Given the description of an element on the screen output the (x, y) to click on. 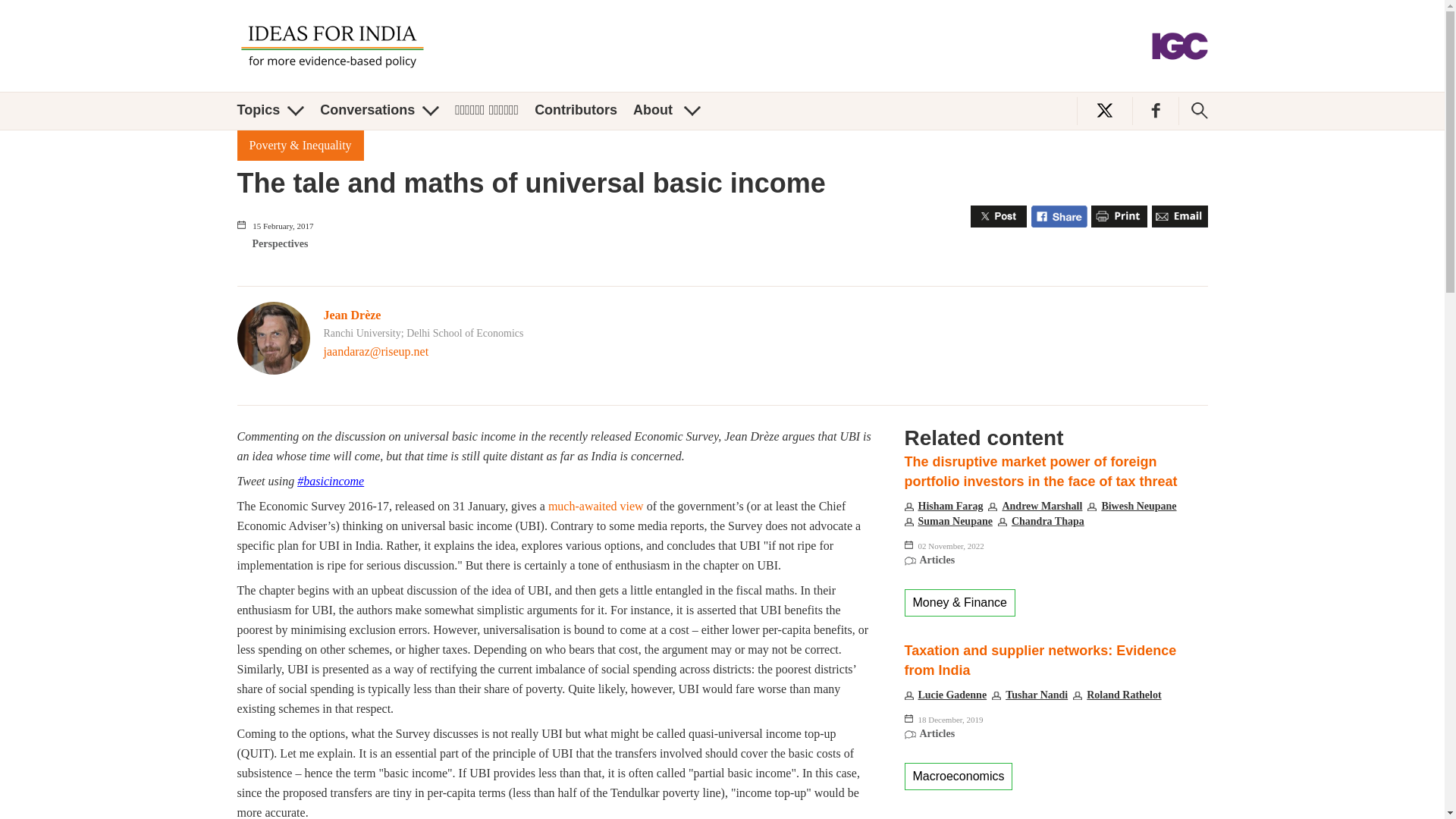
Conversations (379, 109)
Topics (269, 109)
About (666, 109)
much-awaited view (595, 505)
Contributors (575, 109)
